Given the description of an element on the screen output the (x, y) to click on. 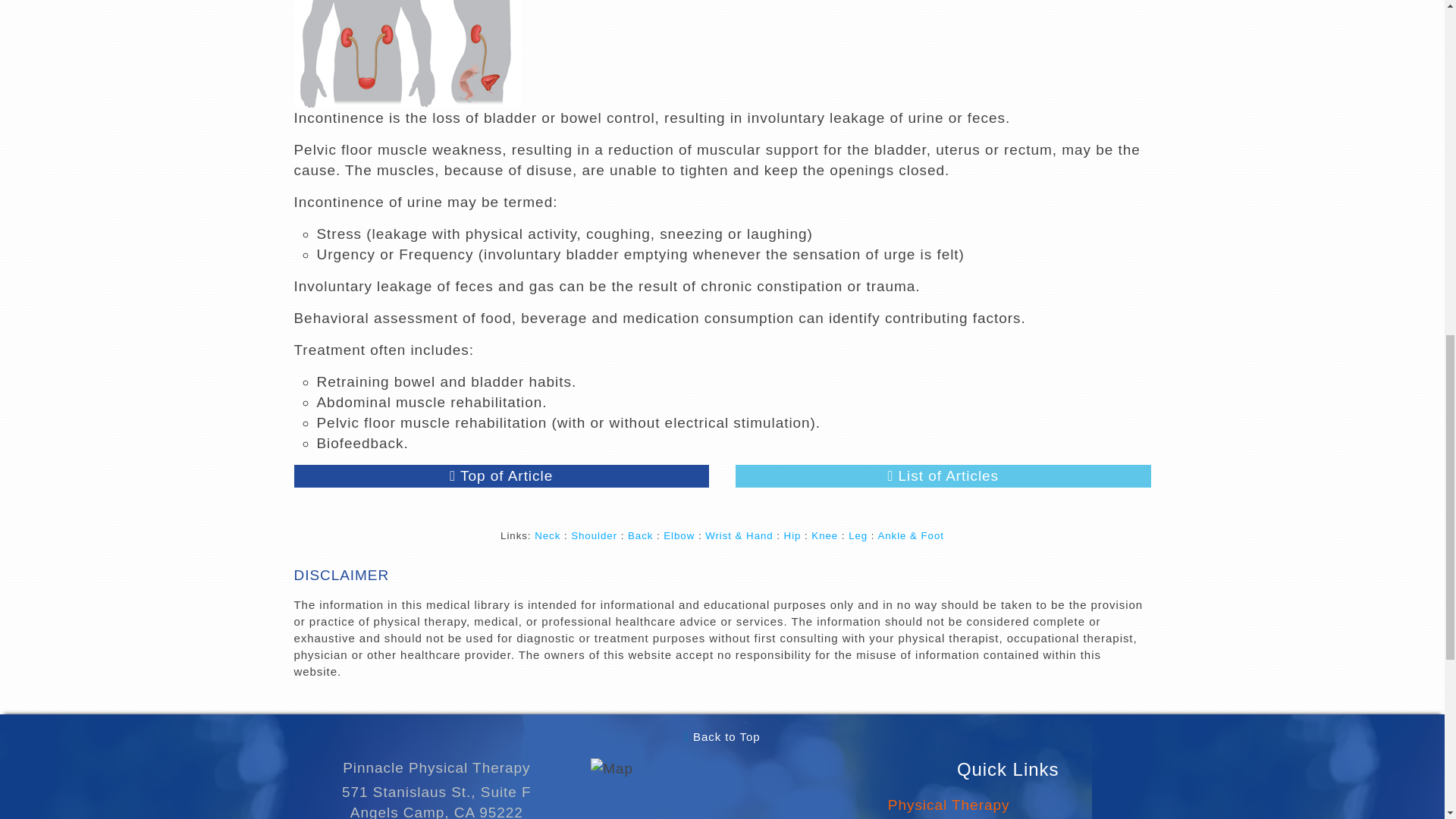
Shoulder (593, 535)
Neck (547, 535)
Back (639, 535)
Hip (793, 535)
Elbow (678, 535)
